Given the description of an element on the screen output the (x, y) to click on. 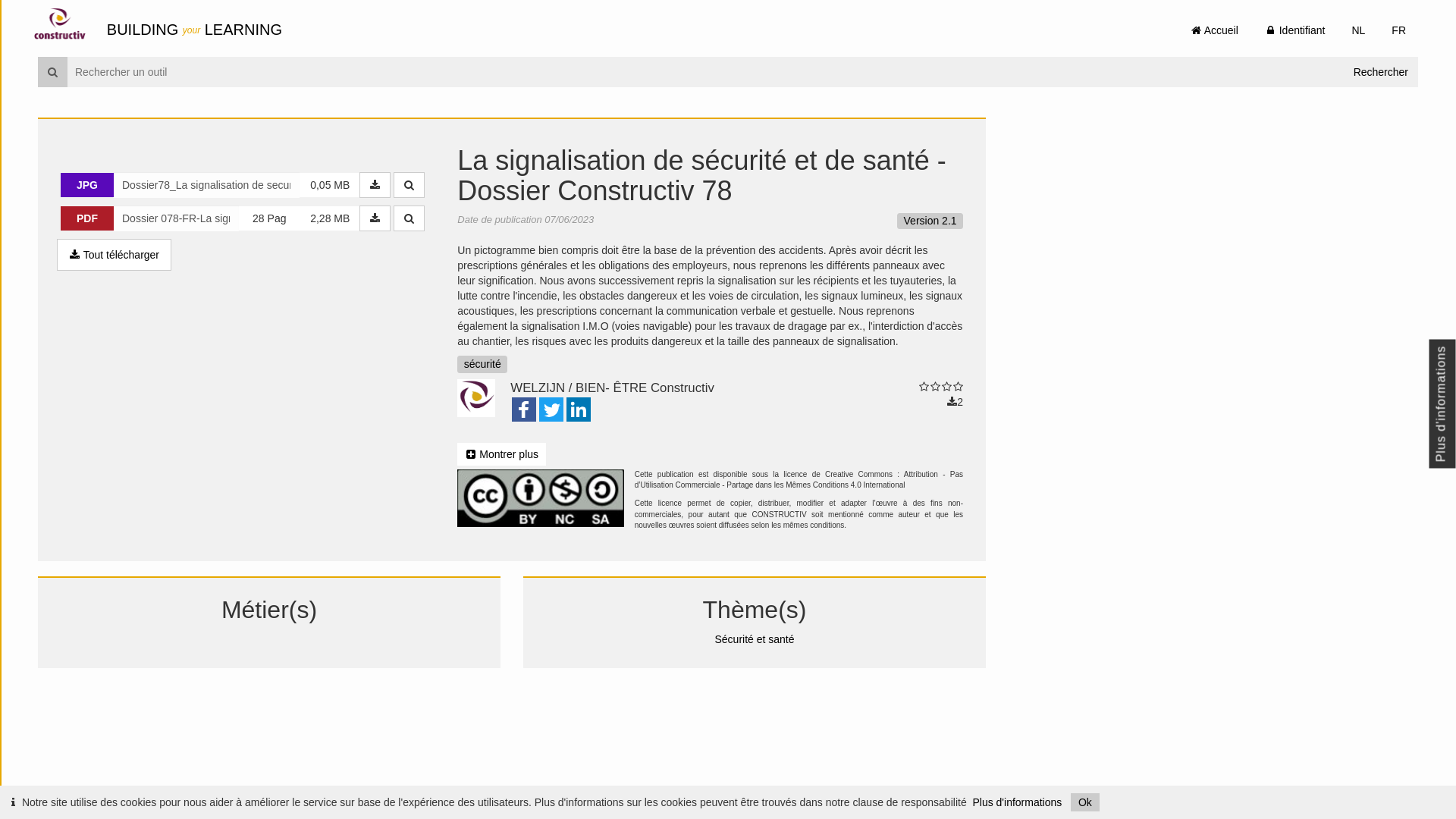
PDF 28 Pag 2,28 MB Element type: text (225, 218)
BUILDING your LEARNING Element type: text (194, 29)
Ok Element type: text (1084, 802)
 Montrer plus Element type: text (501, 453)
LinkedIn Element type: hover (578, 410)
PDF Element type: text (86, 218)
Twitter Element type: hover (551, 409)
Facebook Element type: hover (523, 409)
Twitter Element type: hover (550, 410)
NL Element type: text (1357, 30)
Facebook Element type: hover (523, 410)
Rechercher Element type: text (1380, 71)
Plus d'informations Element type: text (1016, 802)
 Identifiant Element type: text (1294, 30)
JPG 0,05 MB Element type: text (225, 184)
 Accueil Element type: text (1214, 30)
JPG Element type: text (86, 184)
2,28 MB Element type: text (329, 218)
FR Element type: text (1398, 30)
28 Pag Element type: text (268, 218)
 Montrer plus Element type: text (501, 454)
0,05 MB Element type: text (329, 184)
LinkedIn Element type: hover (578, 409)
